Given the description of an element on the screen output the (x, y) to click on. 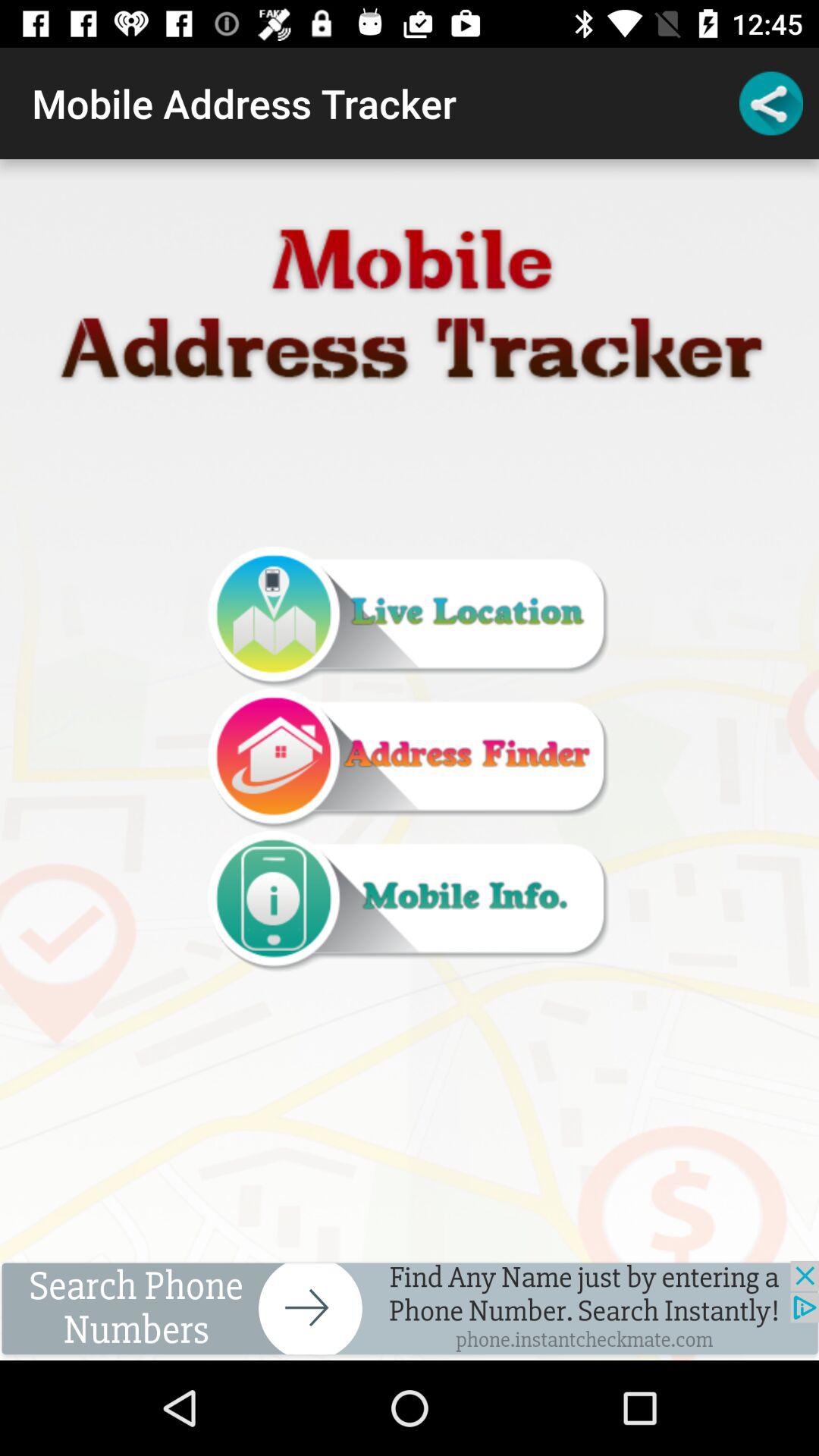
sraech phone number option (409, 1310)
